Given the description of an element on the screen output the (x, y) to click on. 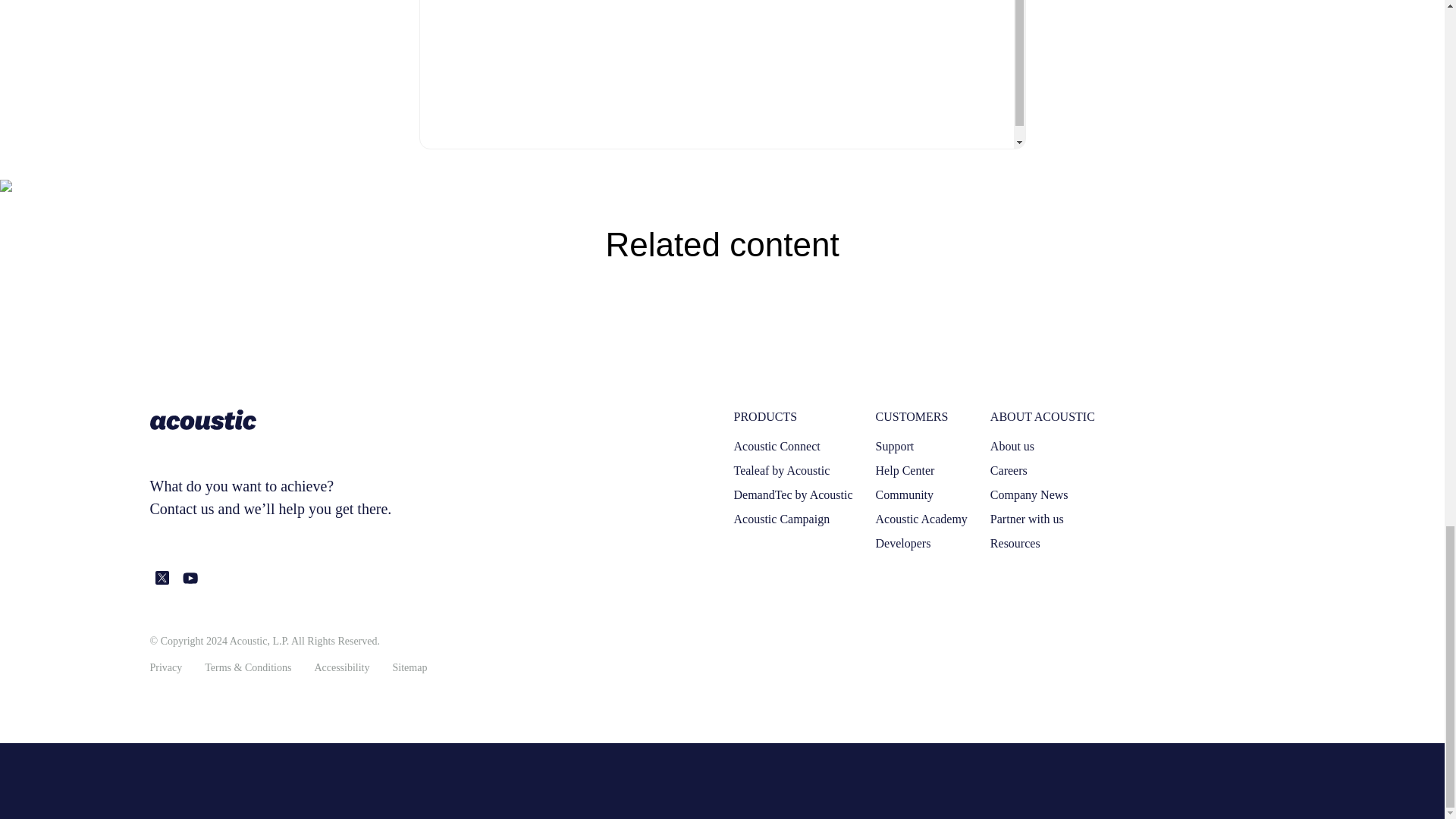
Company News (1029, 494)
Resources (1015, 543)
Visit Acoustic on Twitter (161, 577)
Support (895, 445)
Developers (903, 543)
Privacy (166, 667)
Help Center (905, 470)
Sitemap (410, 667)
DemandTec by Acoustic (793, 494)
Community (904, 494)
About us (1011, 445)
Acoustic Academy (922, 518)
Contact us (181, 508)
Visit Acoustic on YouTube (189, 577)
Careers (1008, 470)
